Given the description of an element on the screen output the (x, y) to click on. 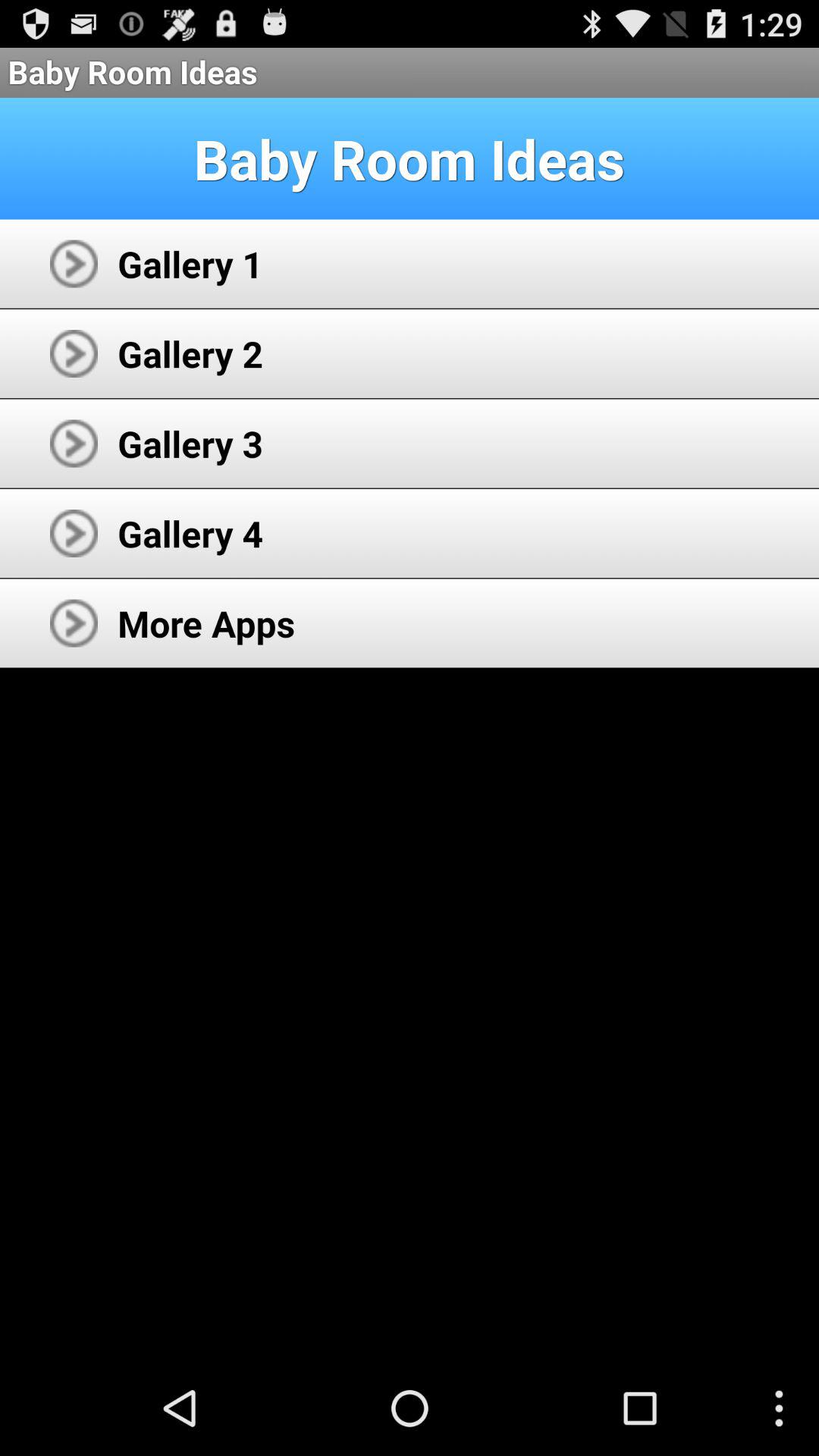
launch icon below gallery 2 icon (190, 443)
